Given the description of an element on the screen output the (x, y) to click on. 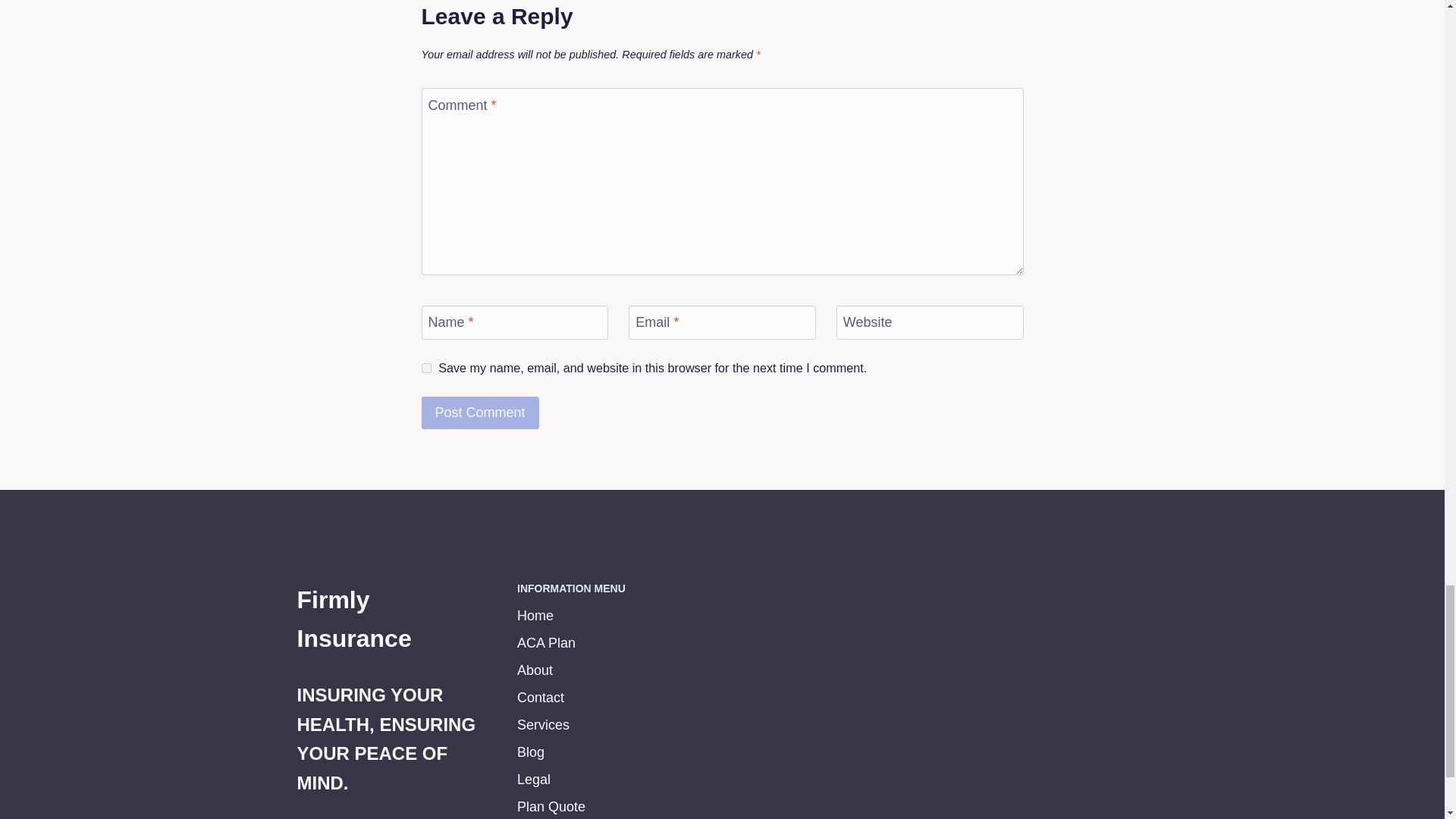
yes (426, 368)
Post Comment (480, 412)
